Given the description of an element on the screen output the (x, y) to click on. 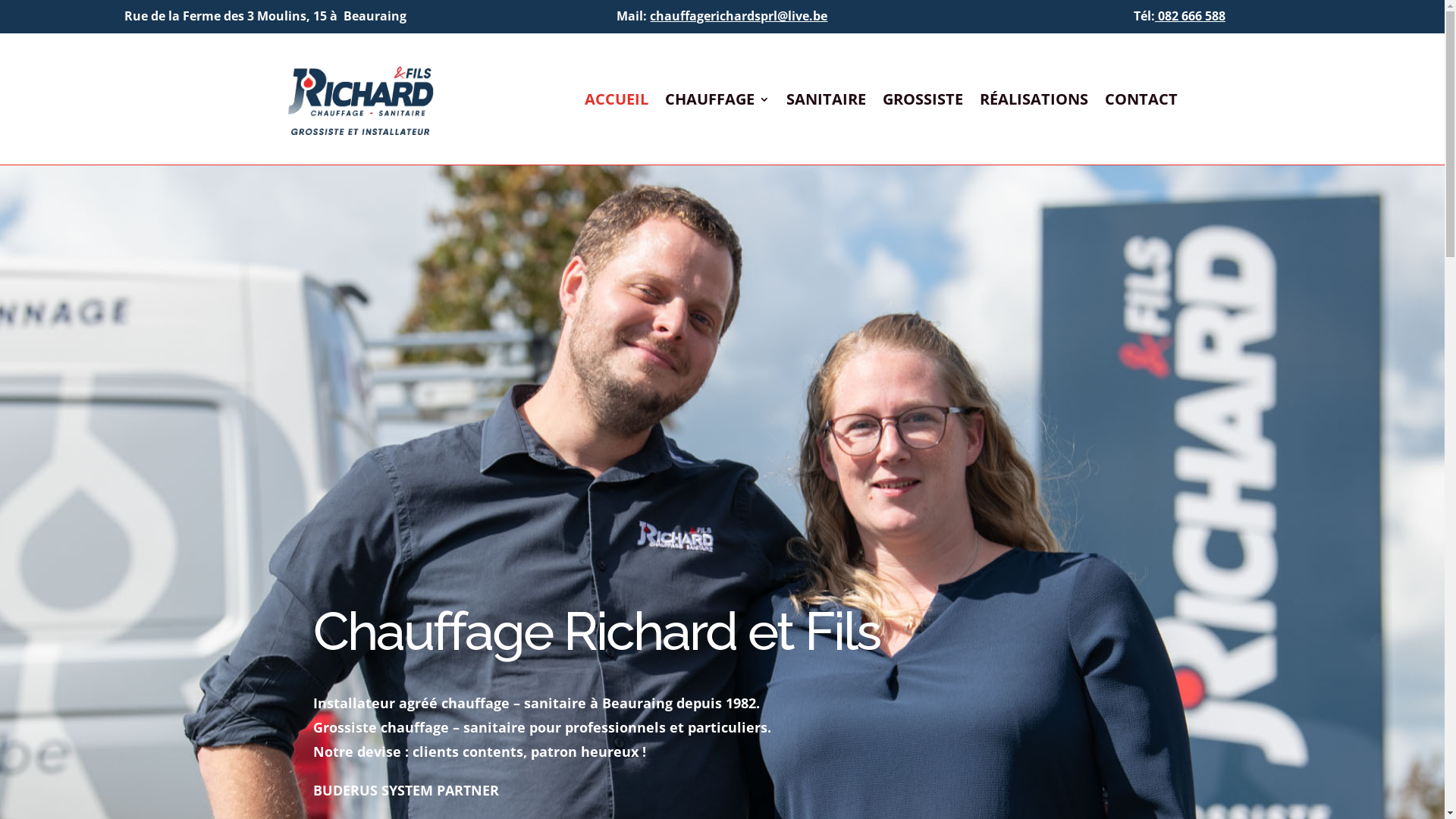
082 666 588 Element type: text (1189, 15)
ACCUEIL Element type: text (615, 102)
SANITAIRE Element type: text (825, 102)
GROSSISTE Element type: text (922, 102)
CHAUFFAGE Element type: text (716, 102)
chauffagerichardsprl@live.be Element type: text (738, 15)
CONTACT Element type: text (1140, 102)
